Given the description of an element on the screen output the (x, y) to click on. 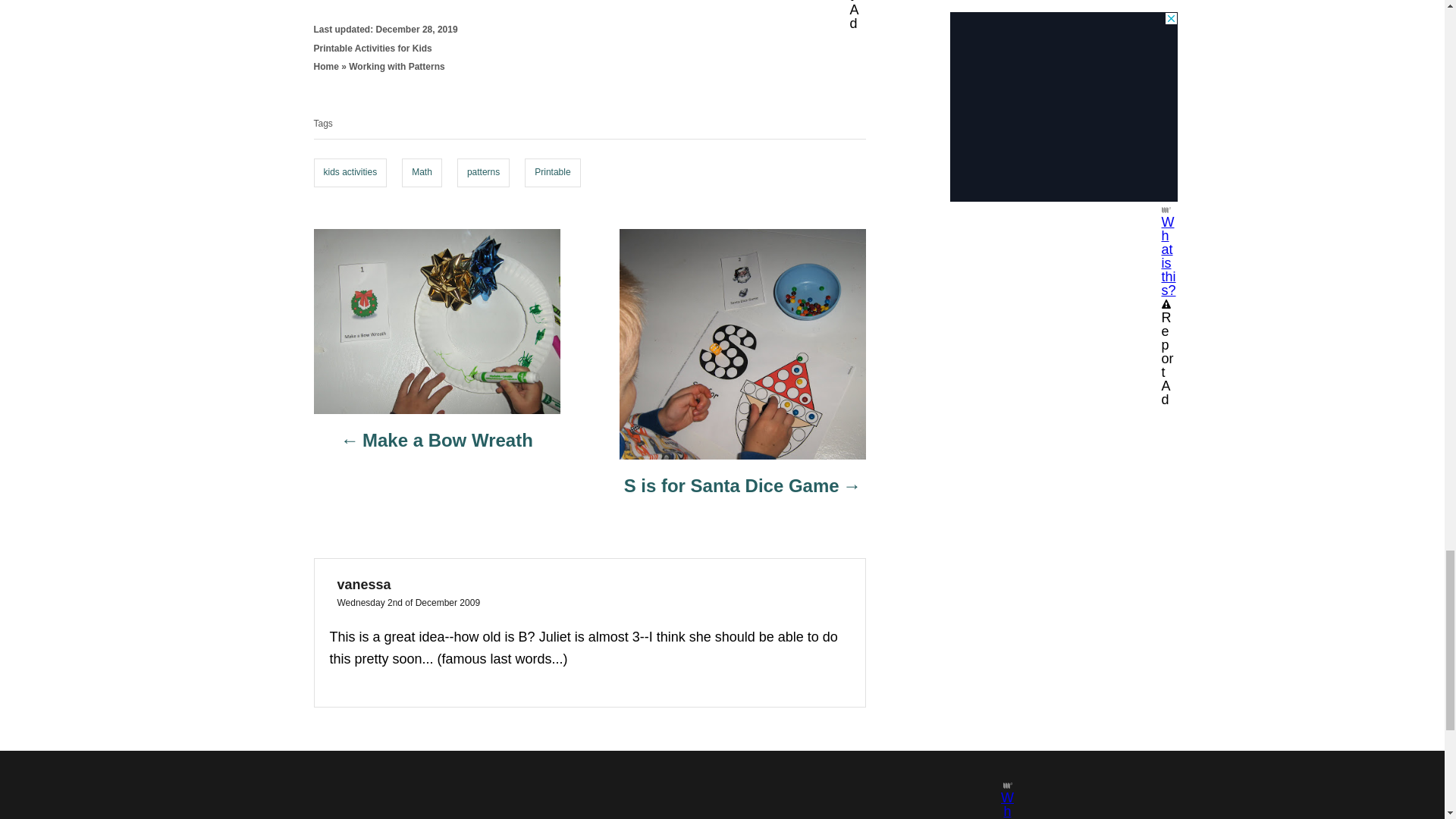
kids activities (350, 172)
Math (421, 172)
Make a Bow Wreath (437, 447)
Home (326, 66)
Printable Activities for Kids (373, 48)
patterns (483, 172)
S is for Santa Dice Game (741, 493)
Printable (551, 172)
